Given the description of an element on the screen output the (x, y) to click on. 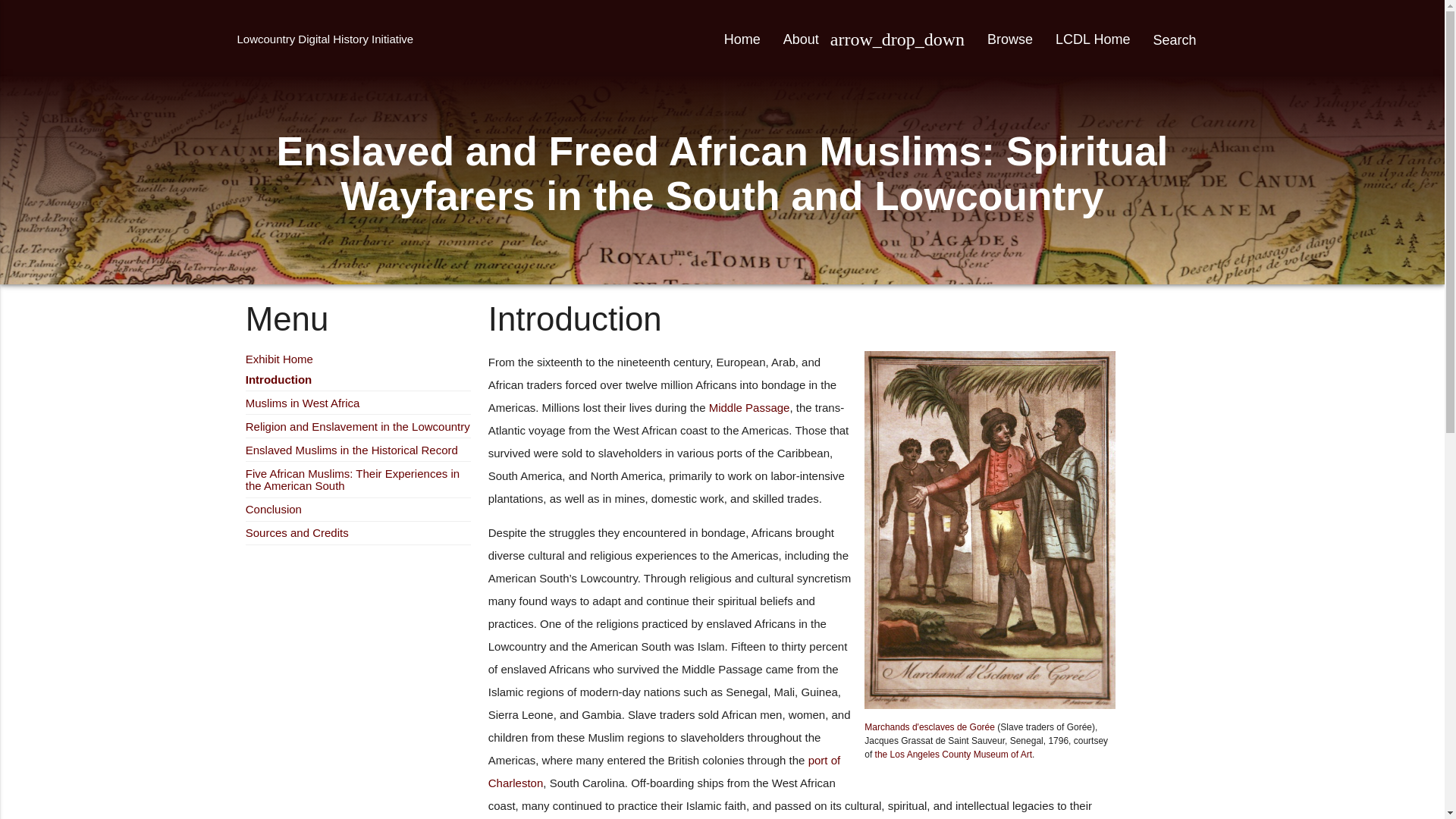
Home (742, 39)
LCDL Home (1092, 39)
Religion and Enslavement in the Lowcountry (358, 426)
Introduction (278, 379)
Middle Passage (749, 407)
Enslaved Muslims in the Historical Record (352, 449)
the Los Angeles County Museum of Art (953, 754)
Exhibit Home (279, 358)
Conclusion (273, 508)
Sources and Credits (297, 532)
